Given the description of an element on the screen output the (x, y) to click on. 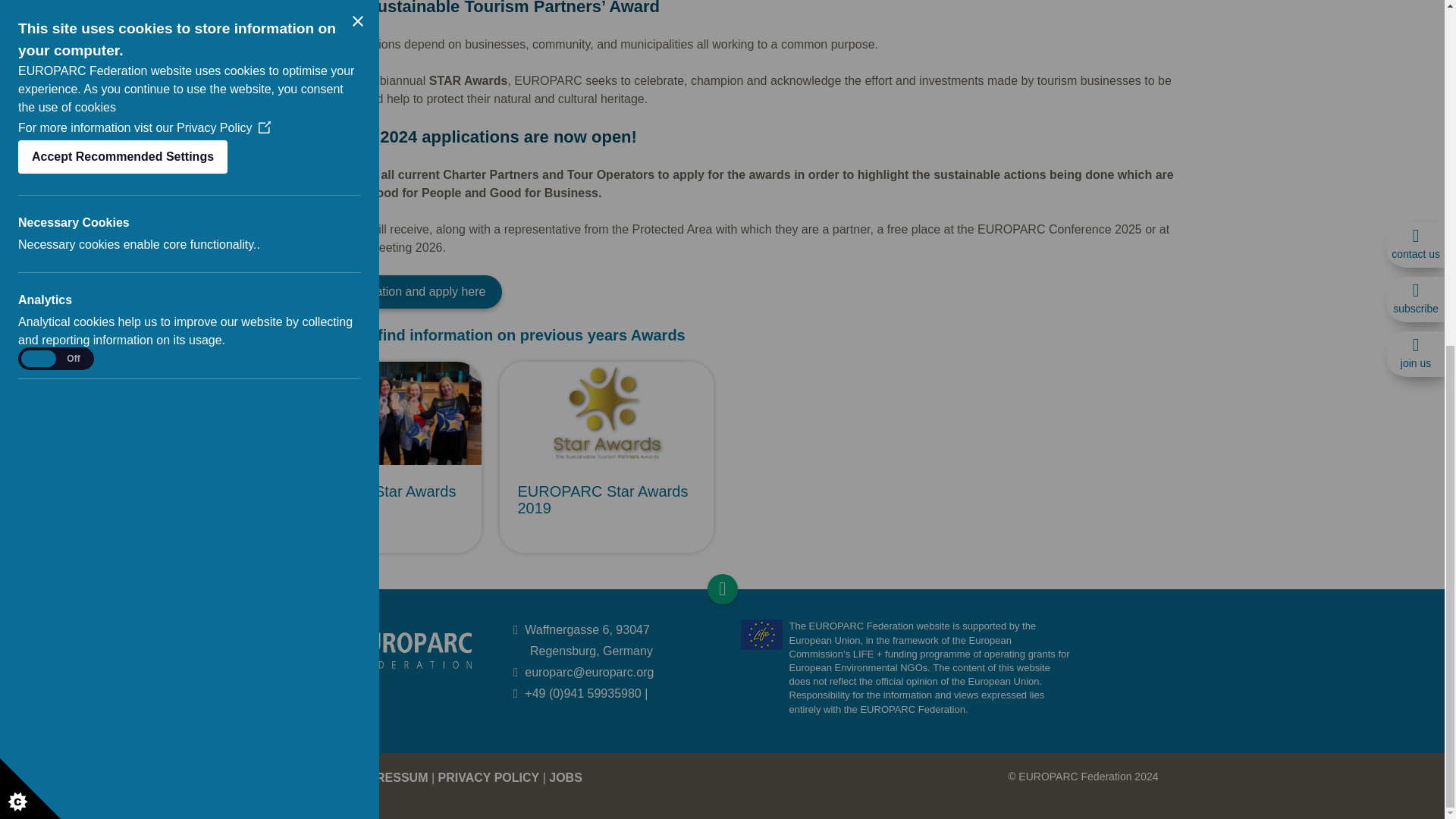
Cookie Control Icon (30, 195)
